Given the description of an element on the screen output the (x, y) to click on. 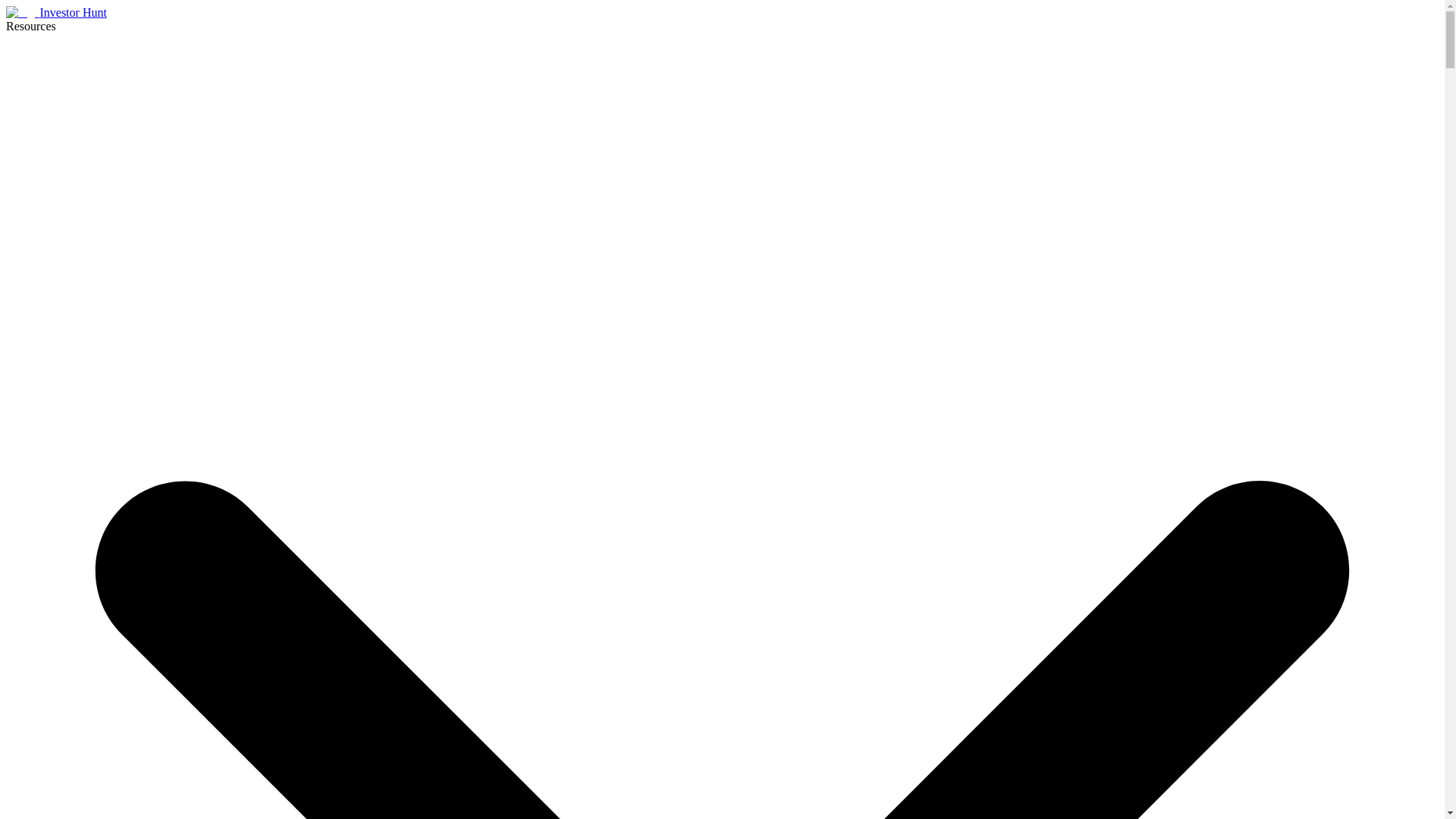
Investor Hunt (55, 11)
